Given the description of an element on the screen output the (x, y) to click on. 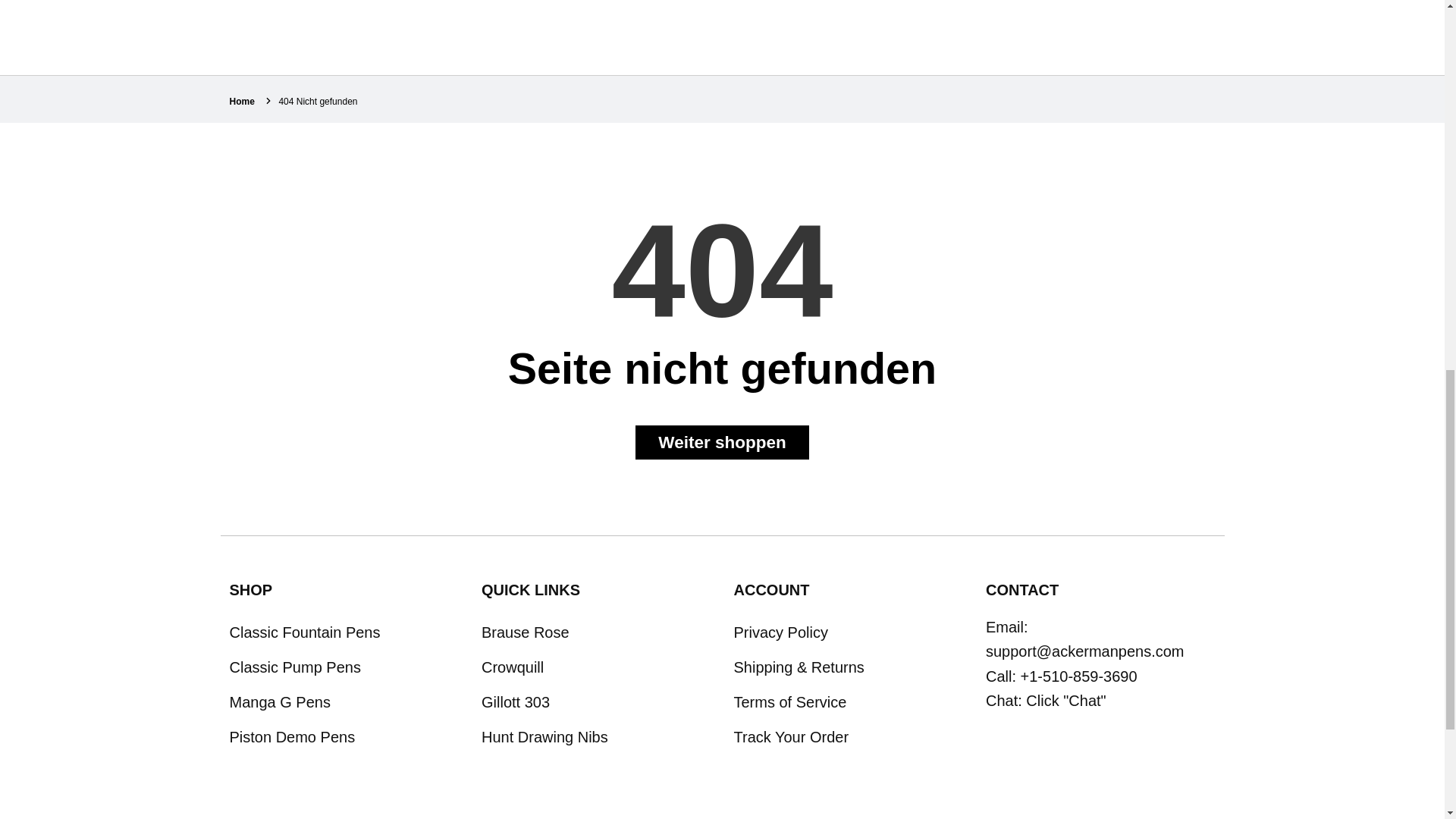
Classic Fountain Pens (343, 632)
Home (240, 101)
Weiter shoppen (721, 442)
Classic Pump Pens (343, 667)
404 Nicht gefunden (317, 101)
